Given the description of an element on the screen output the (x, y) to click on. 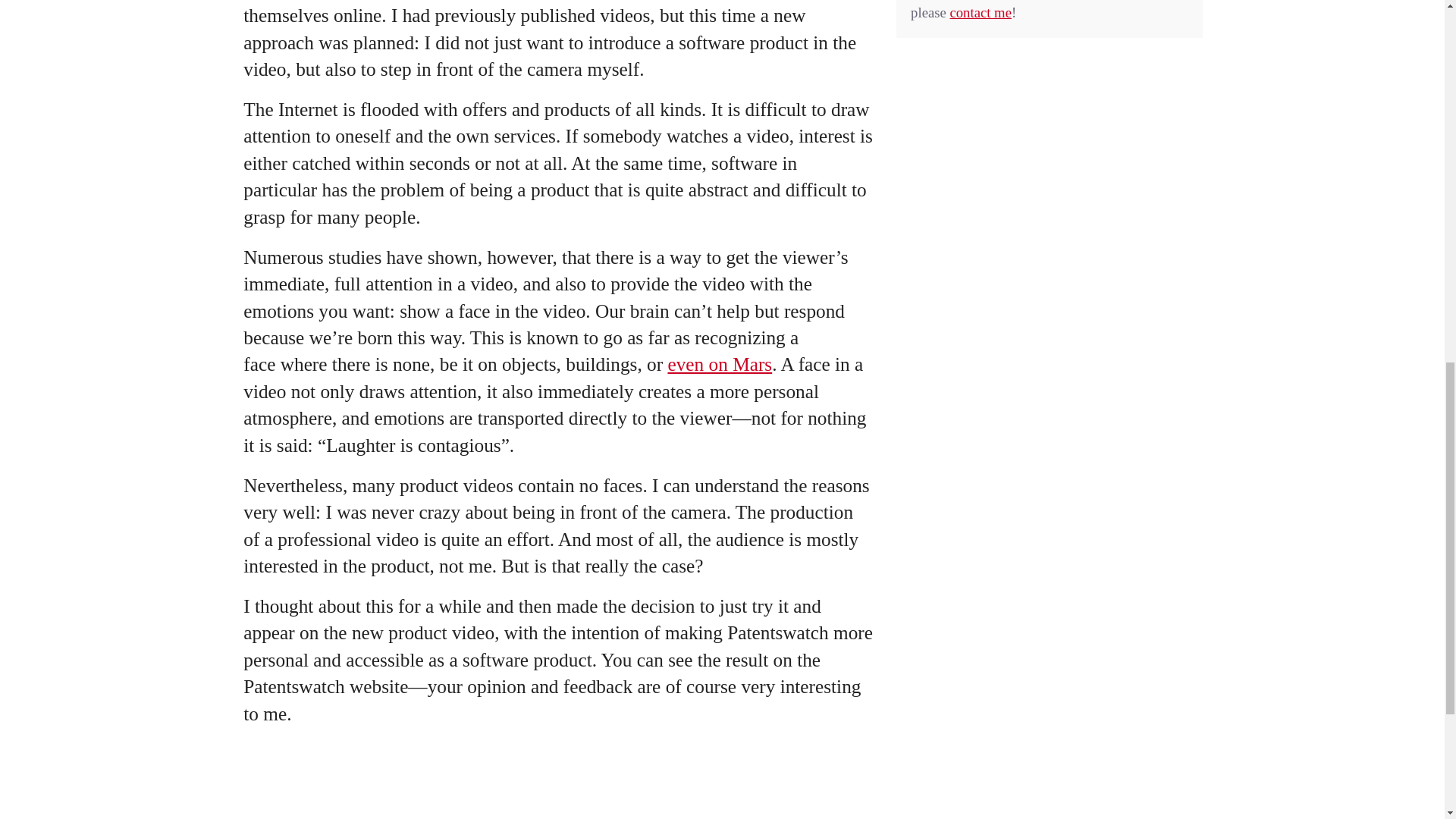
even on Mars (718, 363)
contact me (979, 12)
